Given the description of an element on the screen output the (x, y) to click on. 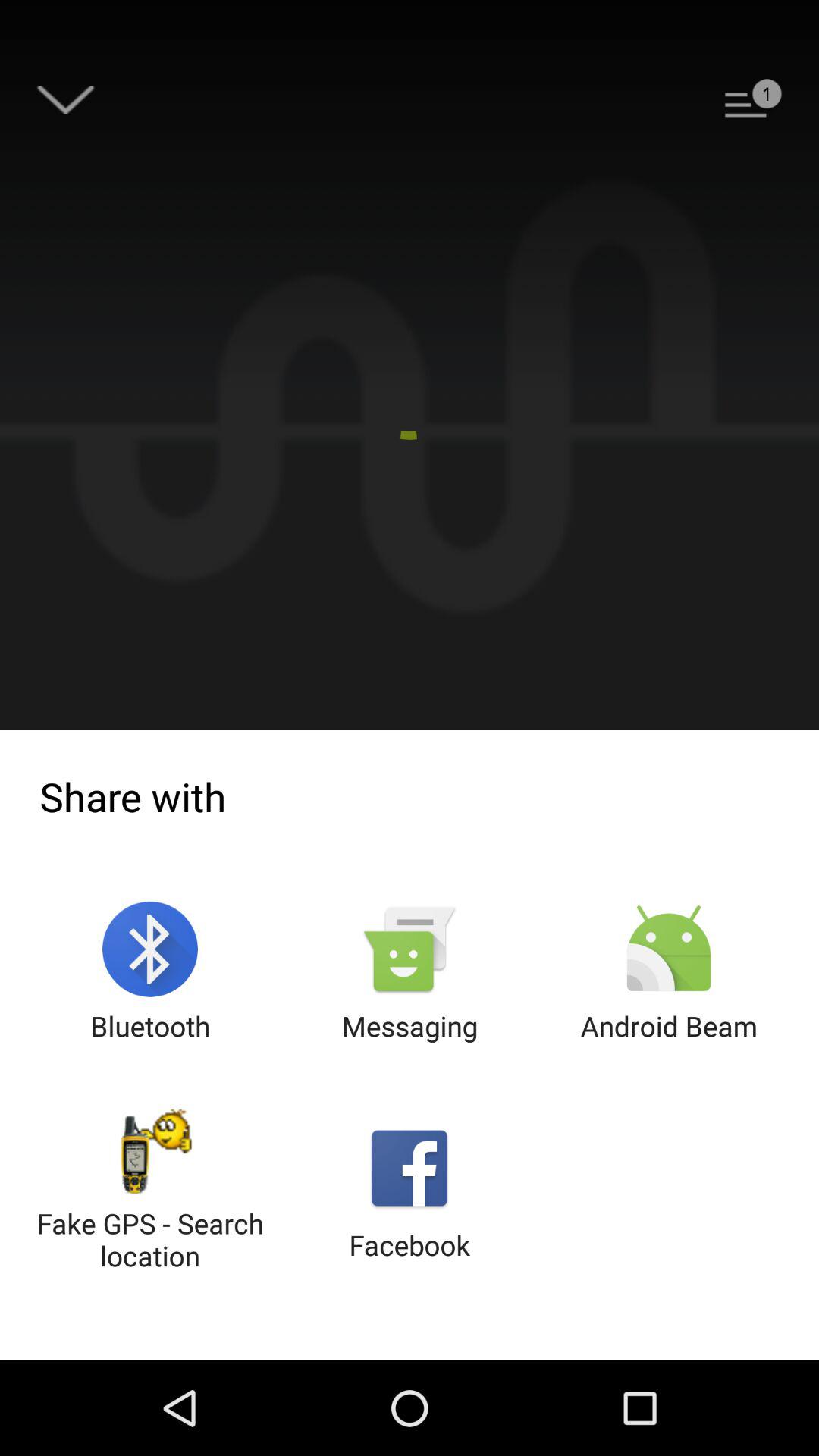
select icon below the messaging item (409, 1191)
